Given the description of an element on the screen output the (x, y) to click on. 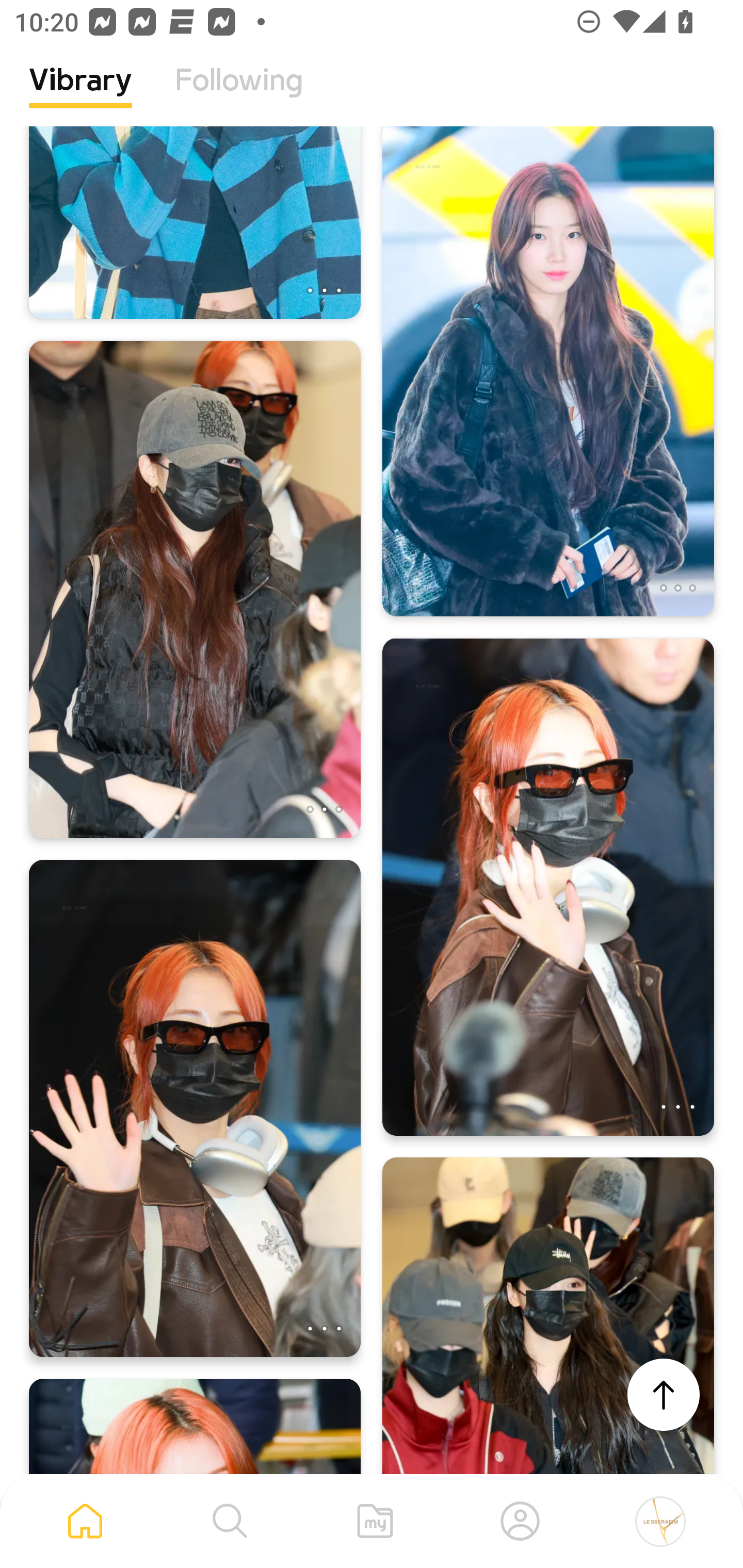
Vibrary (80, 95)
Following (239, 95)
